Given the description of an element on the screen output the (x, y) to click on. 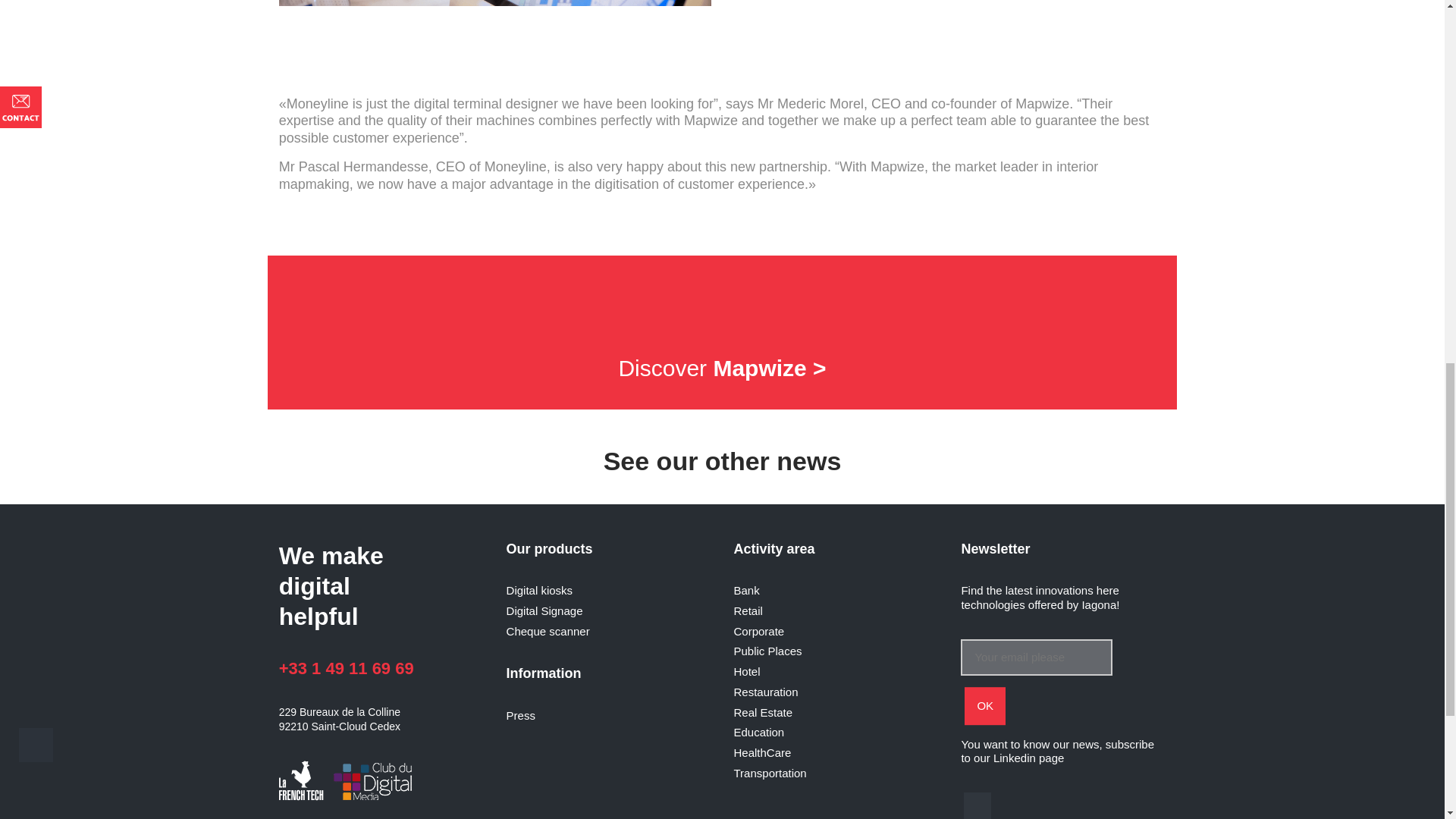
frenchtech-CDM (349, 781)
OK (984, 705)
mapwize-sur-bornes-moneyline (495, 2)
